Given the description of an element on the screen output the (x, y) to click on. 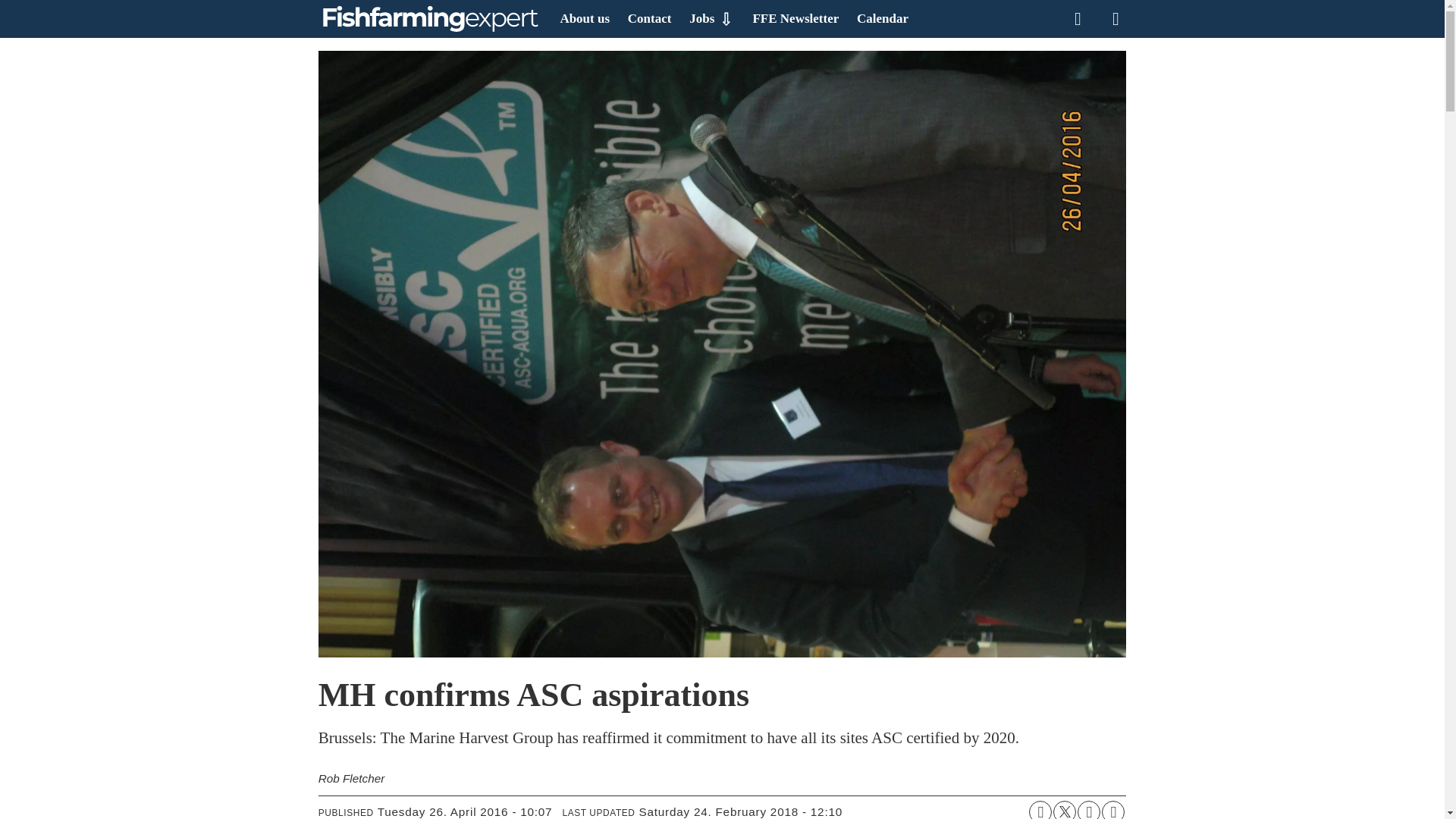
Last updated saturday 24. February 2018 - 12:10 (741, 809)
Calendar (882, 18)
Published tuesday 26. April 2016 - 10:07 (465, 809)
FFE Newsletter (795, 18)
About us (584, 18)
Contact (649, 18)
